Given the description of an element on the screen output the (x, y) to click on. 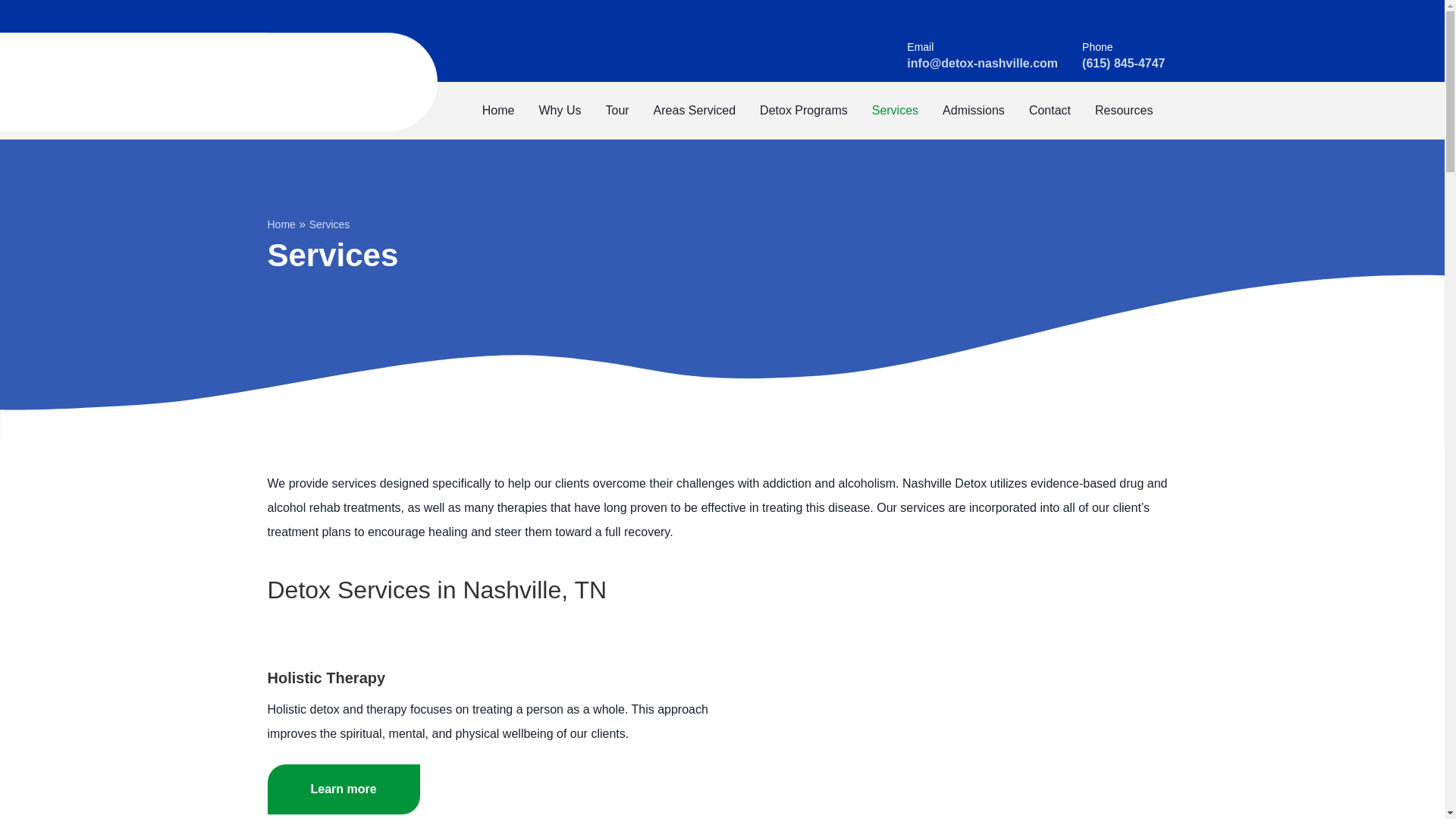
Detox Programs (804, 110)
Contact (1049, 110)
Areas Serviced (695, 110)
Home (498, 110)
Home (498, 110)
Why Us (558, 110)
Tour (616, 110)
Why Us (558, 110)
Detox Programs (804, 110)
Services (895, 110)
Areas Serviced (695, 110)
Tour (616, 110)
Admissions (973, 110)
